Given the description of an element on the screen output the (x, y) to click on. 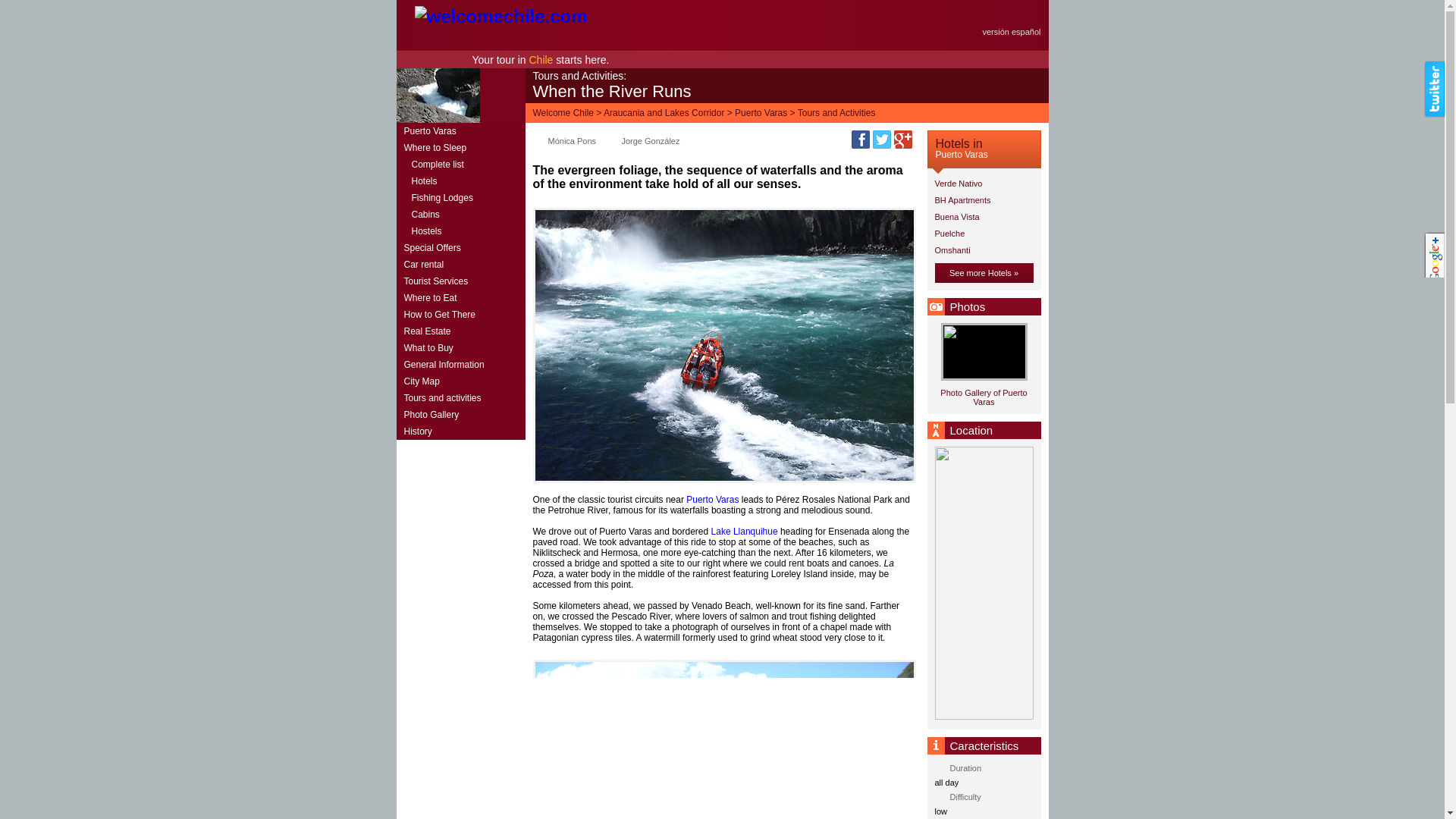
What to Buy (460, 347)
Real Estate (460, 330)
Welcome Chile (562, 112)
Lake Llanquihue (744, 531)
Puerto Varas (761, 112)
Special Offers (460, 247)
Complete list (460, 164)
Buena Vista (983, 217)
Araucania and Lakes Corridor (663, 112)
Car rental (460, 264)
Hotels (460, 180)
Puerto Varas (711, 499)
Tours and activities (460, 397)
Omshanti (983, 250)
Tours and Activities (836, 112)
